Given the description of an element on the screen output the (x, y) to click on. 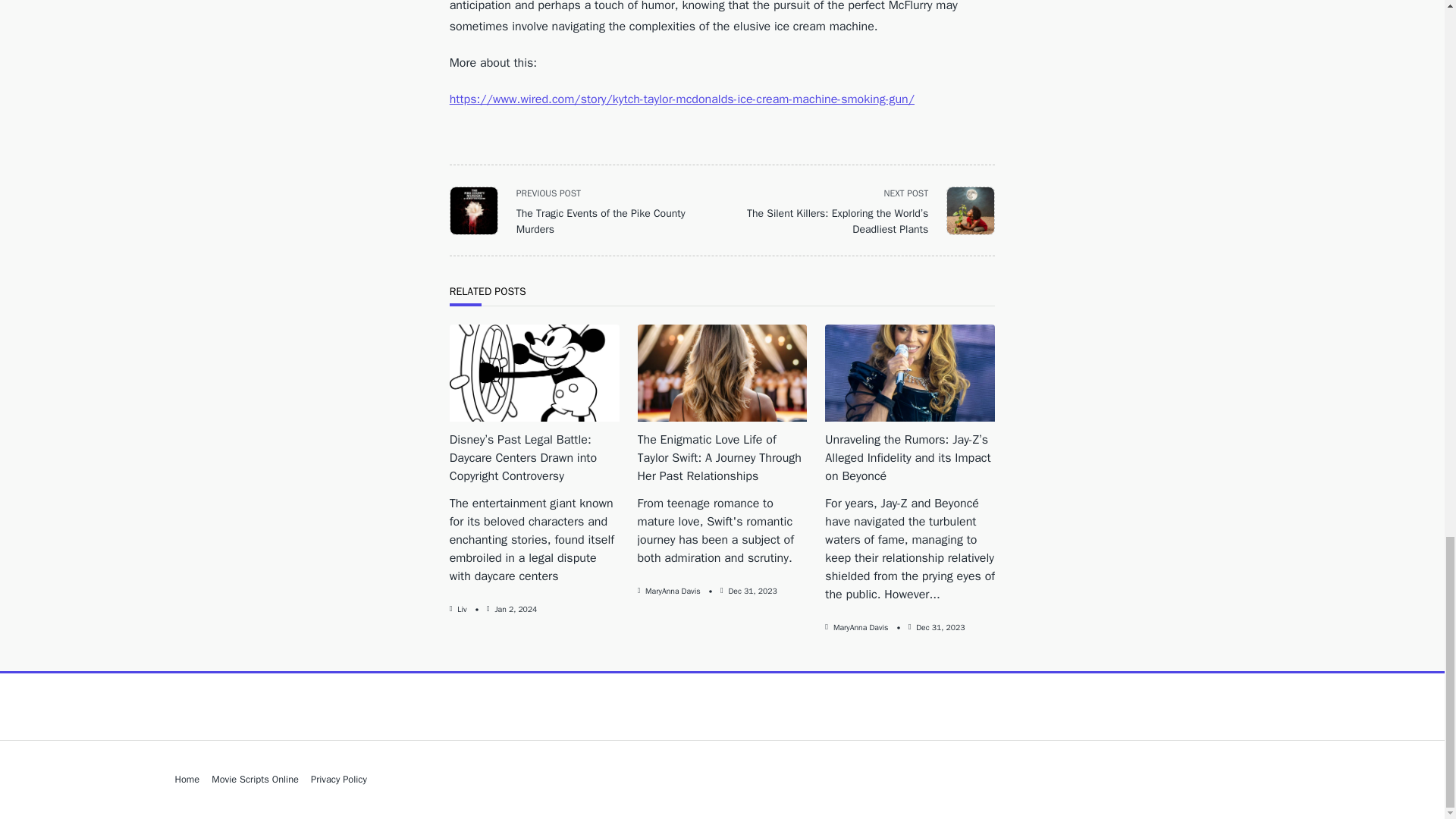
MaryAnna Davis (672, 591)
Dec 31, 2023 (752, 591)
Jan 2, 2024 (516, 609)
Liv (461, 609)
